Given the description of an element on the screen output the (x, y) to click on. 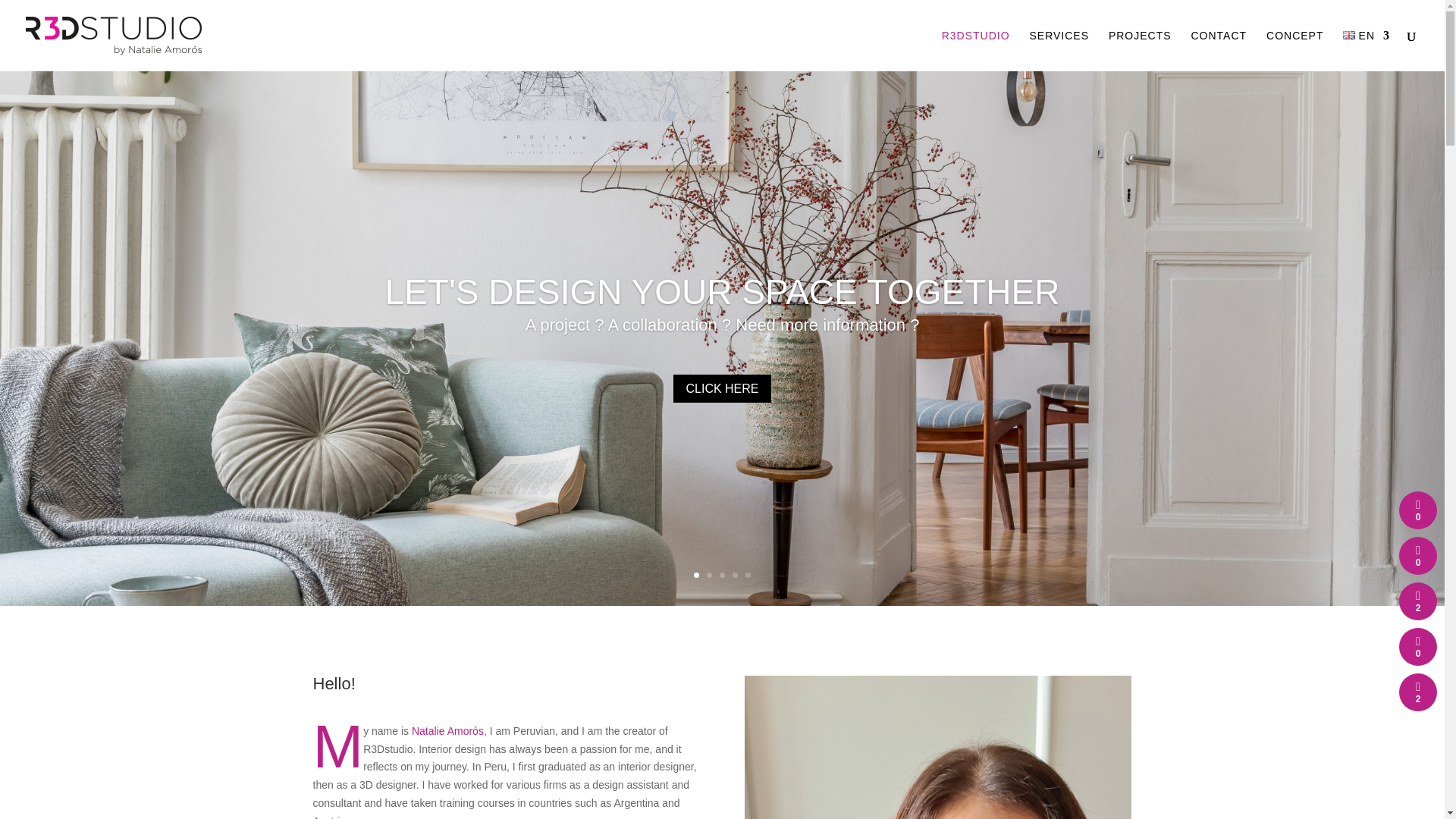
EN (1366, 50)
4 (735, 575)
Linkedin (447, 730)
5 (748, 575)
CONCEPT (1294, 50)
SERVICES (1059, 50)
3 (722, 575)
CONTACT (1218, 50)
PROJECTS (1140, 50)
2 (708, 575)
LET'S DESIGN YOUR SPACE TOGETHER (722, 345)
R3DSTUDIO (976, 50)
CLICK HERE (721, 440)
